Given the description of an element on the screen output the (x, y) to click on. 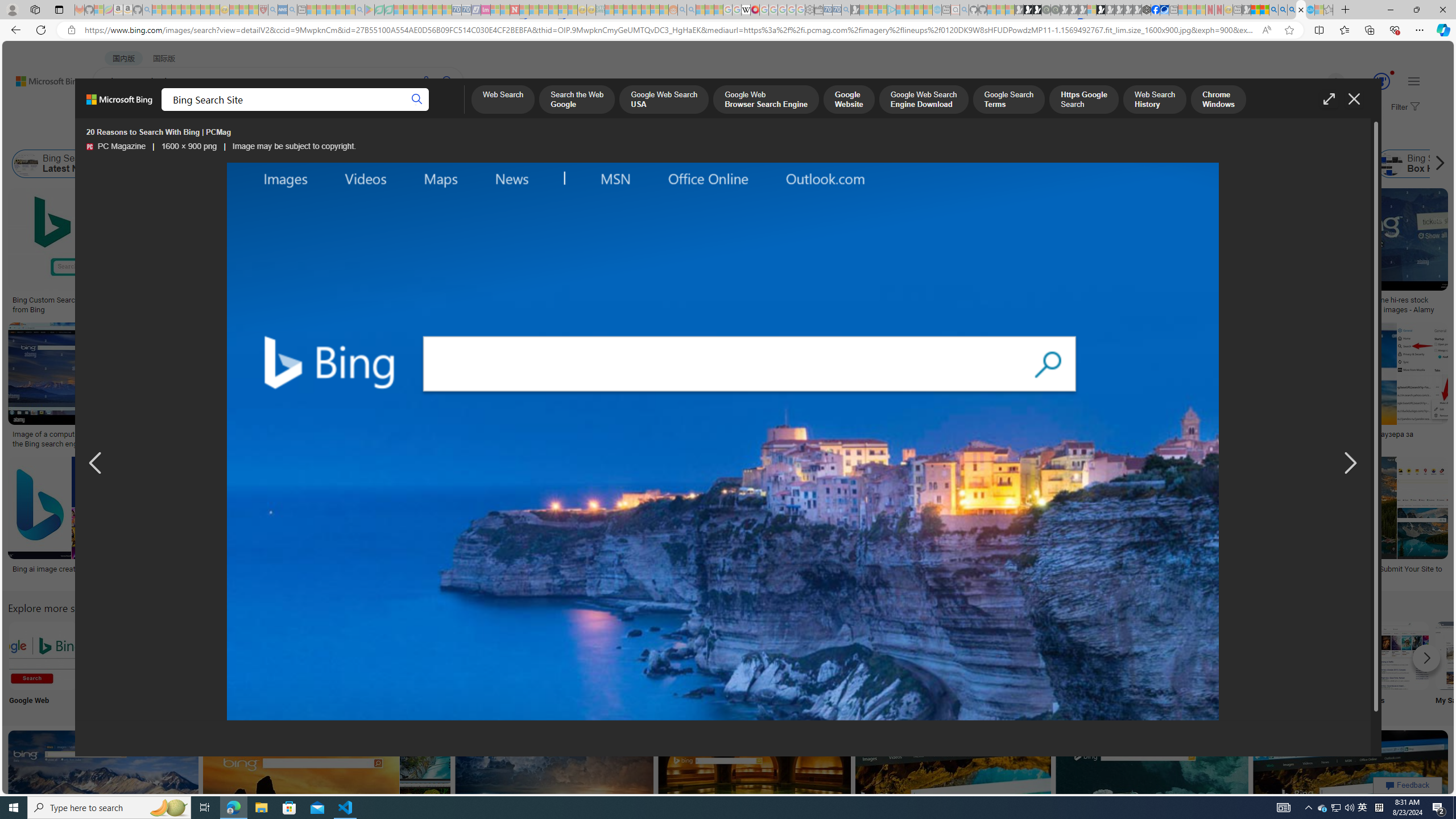
T-Shirts (802, 227)
Bing Photo Search Microsoft Edge (268, 654)
Microsoft Bing Search (711, 163)
Bing Best Search Engine (826, 163)
Bing ai image creatorSave (66, 521)
AutomationID: serp_medal_svg (1381, 81)
Bing Best Search Engine (776, 163)
PC Magazine (89, 146)
FIX: Downloading proxy script message on Google Chrome (526, 573)
